Given the description of an element on the screen output the (x, y) to click on. 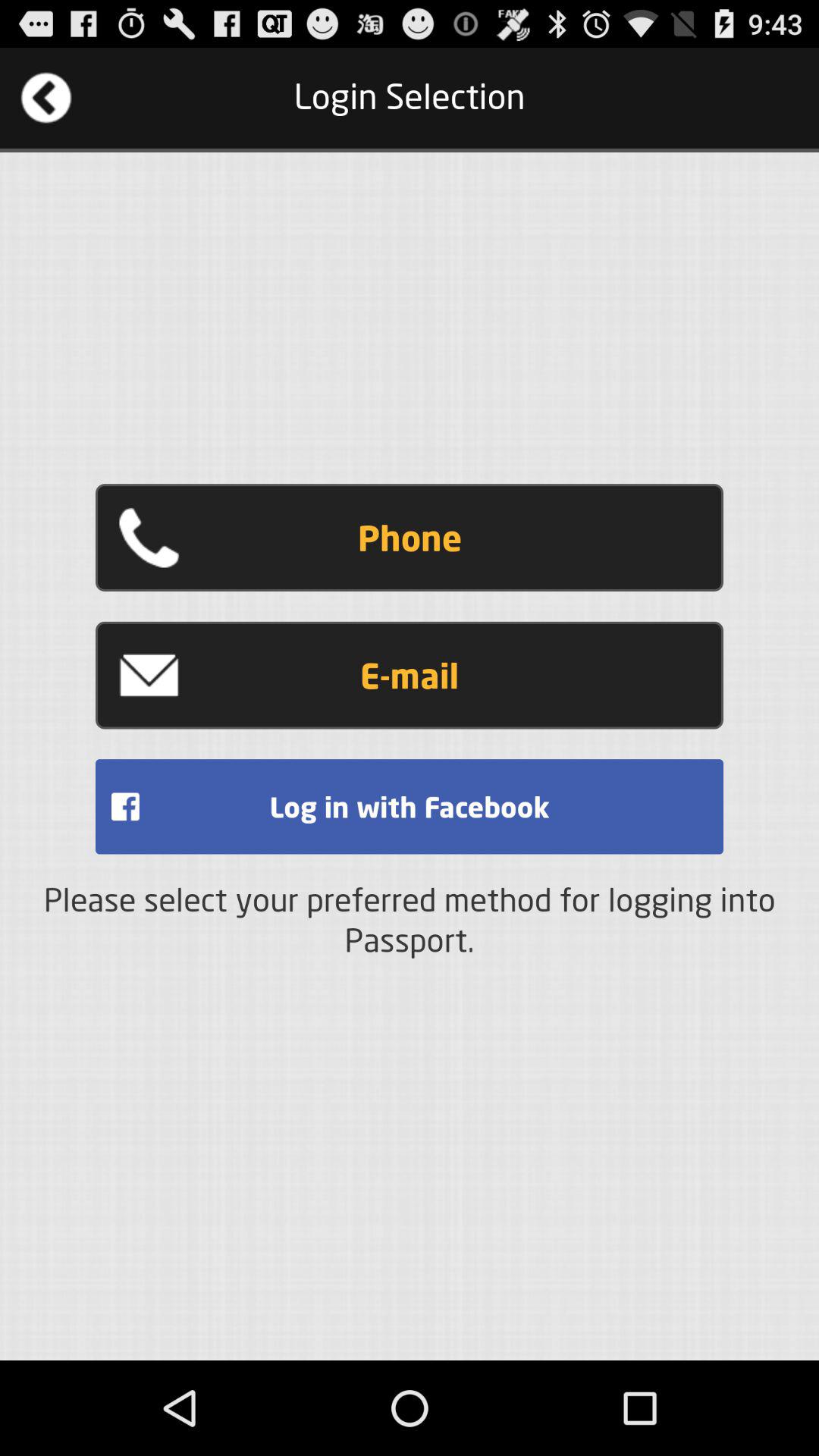
turn on the button below e-mail icon (409, 806)
